Given the description of an element on the screen output the (x, y) to click on. 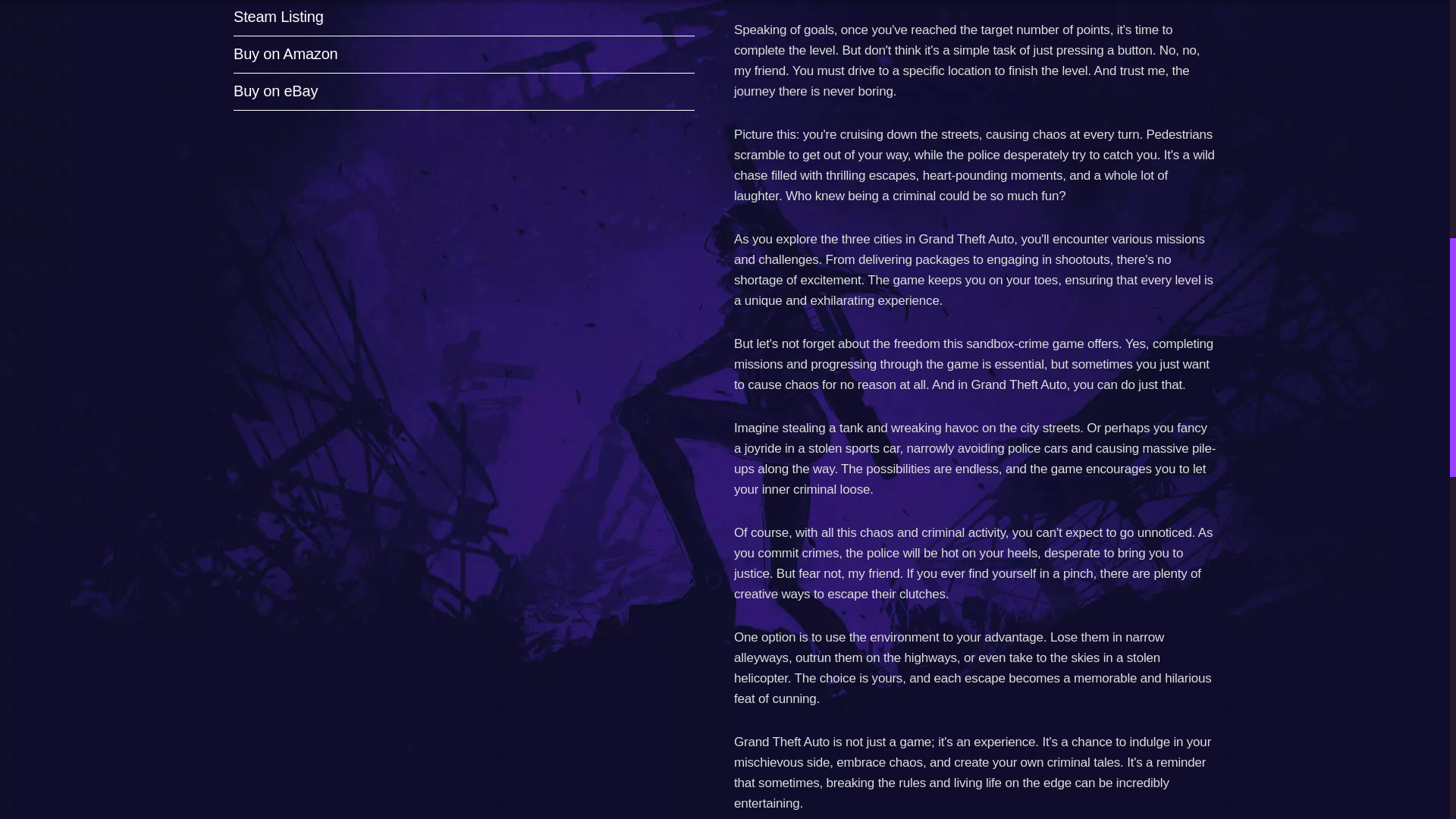
Steam Listing (277, 16)
Buy on eBay (274, 90)
Buy on Amazon (284, 53)
